Given the description of an element on the screen output the (x, y) to click on. 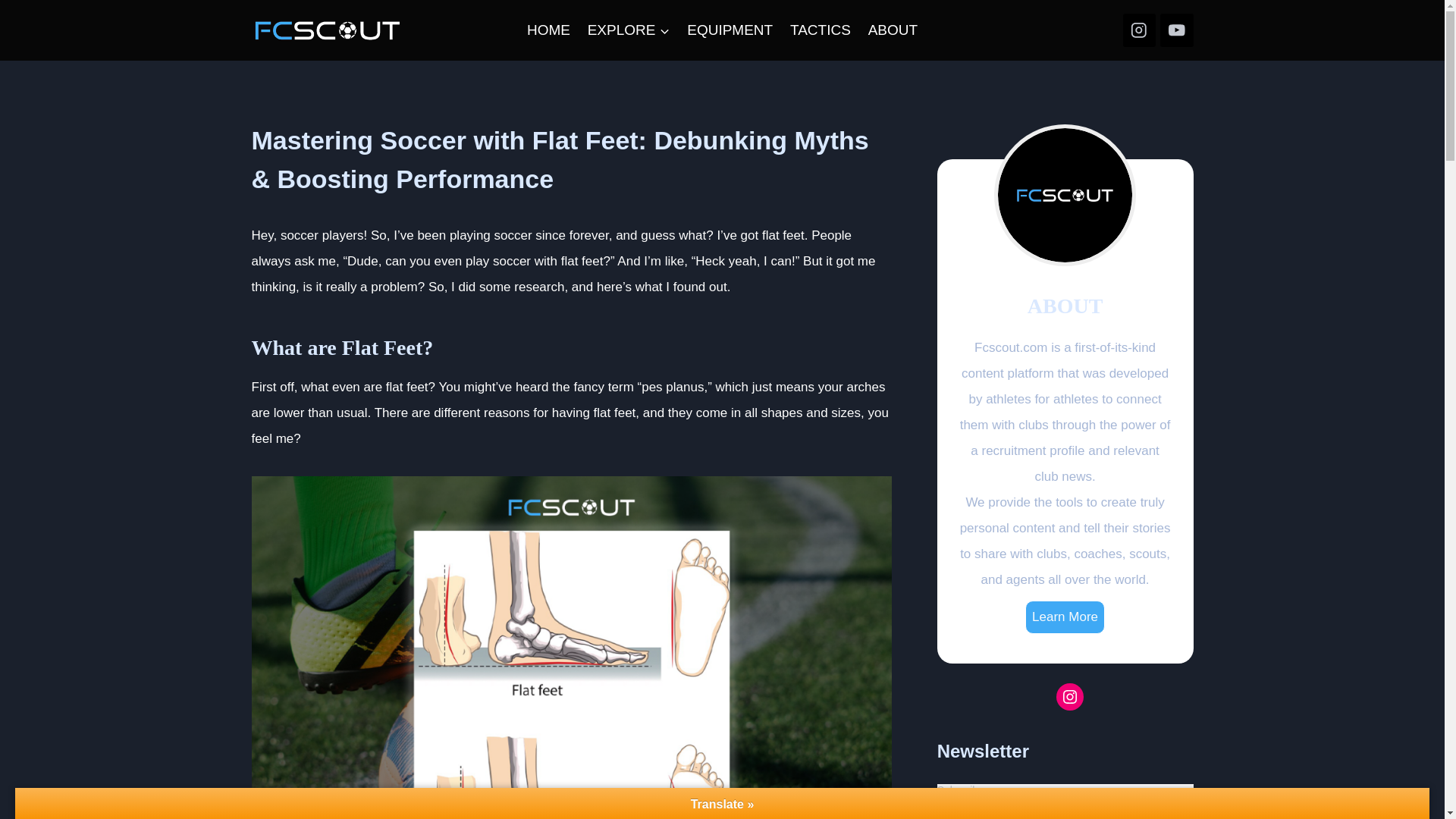
Instagram (1070, 696)
EQUIPMENT (729, 30)
TACTICS (820, 30)
HOME (548, 30)
Learn More (1065, 616)
EXPLORE (628, 30)
ABOUT (892, 30)
